Given the description of an element on the screen output the (x, y) to click on. 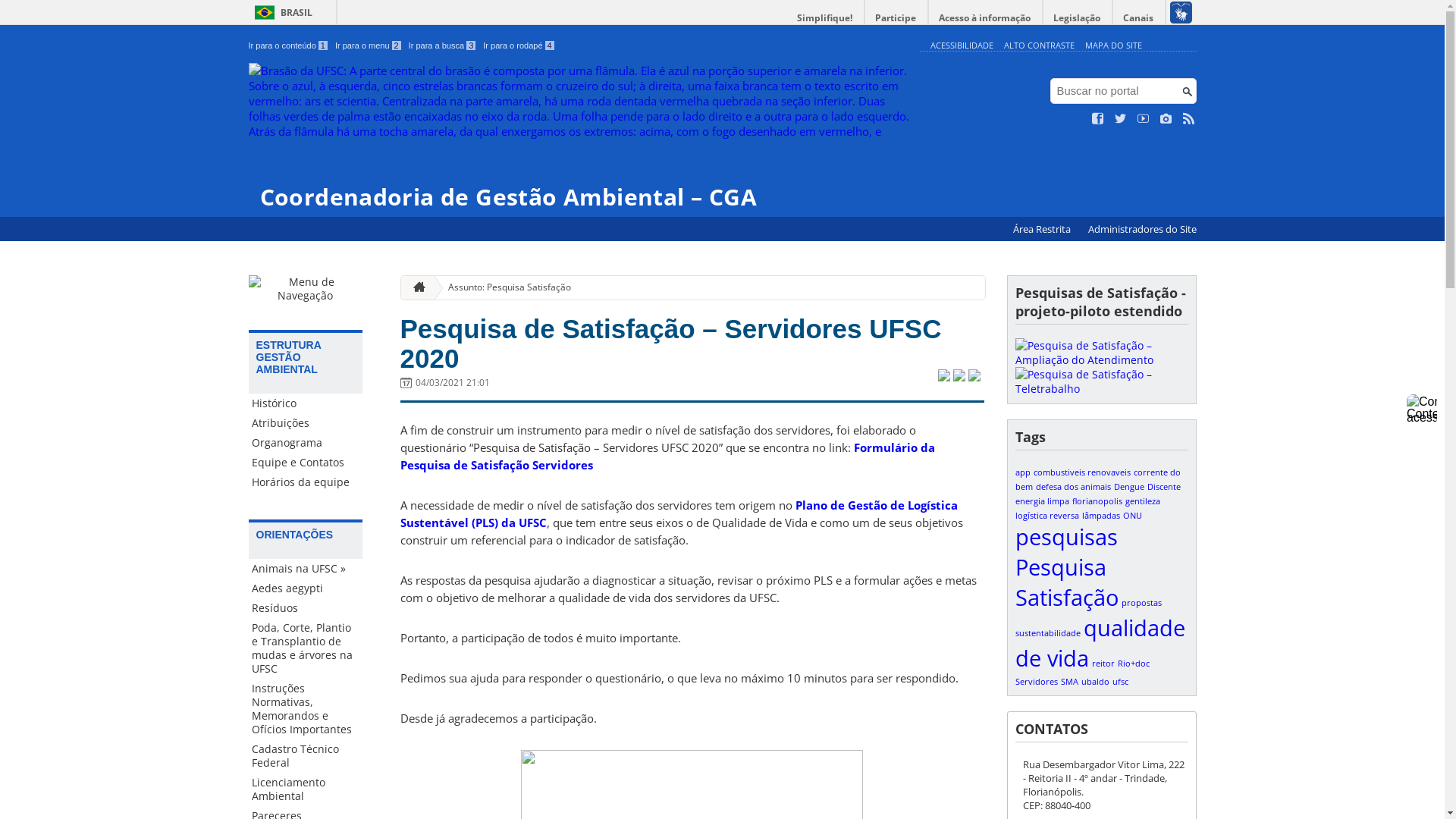
pesquisas Element type: text (1065, 536)
Simplifique! Element type: text (825, 18)
Organograma Element type: text (305, 442)
Rio+doc Element type: text (1133, 663)
Equipe e Contatos Element type: text (305, 462)
ACESSIBILIDADE Element type: text (960, 44)
energia limpa Element type: text (1041, 500)
florianopolis Element type: text (1097, 500)
Discente Element type: text (1162, 486)
Ir para o menu 2 Element type: text (368, 45)
Curta no Facebook Element type: hover (1098, 118)
Siga no Twitter Element type: hover (1120, 118)
Administradores do Site Element type: text (1141, 228)
qualidade de vida Element type: text (1099, 642)
combustiveis renovaveis Element type: text (1080, 472)
reitor Element type: text (1103, 663)
app Element type: text (1021, 472)
Canais Element type: text (1138, 18)
Veja no Instagram Element type: hover (1166, 118)
ubaldo Element type: text (1095, 681)
SMA Element type: text (1068, 681)
ALTO CONTRASTE Element type: text (1039, 44)
corrente do bem Element type: text (1096, 479)
Compartilhar no Facebook Element type: hover (958, 376)
Servidores Element type: text (1035, 681)
defesa dos animais Element type: text (1072, 486)
ONU Element type: text (1131, 515)
Participe Element type: text (895, 18)
Compartilhar no WhatsApp Element type: hover (973, 376)
MAPA DO SITE Element type: text (1112, 44)
BRASIL Element type: text (280, 12)
Participe! Element type: hover (1100, 359)
Aedes aegypti Element type: text (305, 588)
propostas sustentabilidade Element type: text (1087, 617)
Participe! Element type: hover (1100, 352)
Compartilhar no Twitter Element type: hover (943, 376)
gentileza Element type: text (1142, 500)
Ir para a busca 3 Element type: text (442, 45)
Participe! Element type: hover (1100, 381)
Dengue Element type: text (1128, 486)
Participe! Element type: hover (1100, 388)
Licenciamento Ambiental Element type: text (305, 789)
ufsc Element type: text (1119, 681)
